Given the description of an element on the screen output the (x, y) to click on. 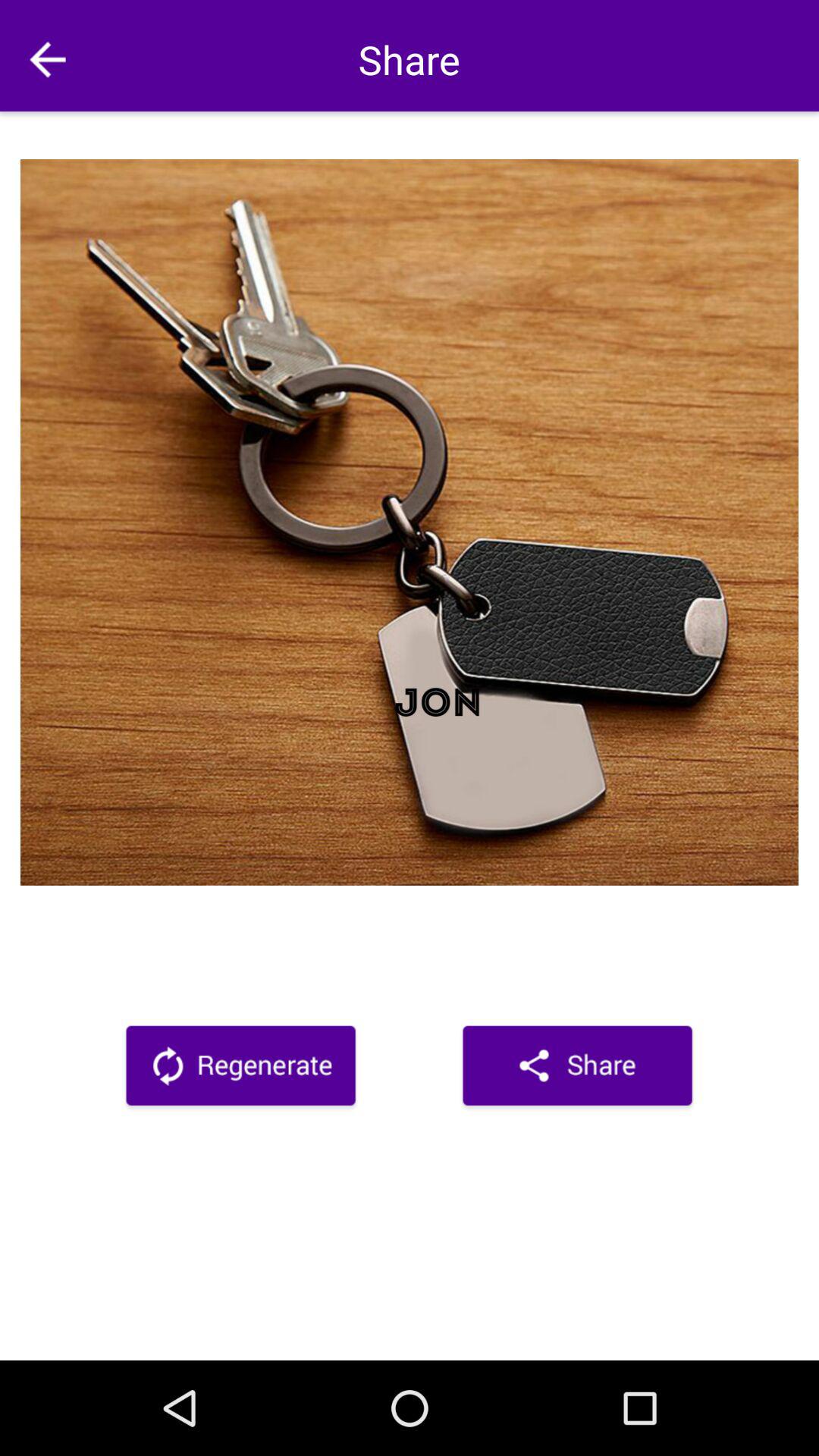
clique para compartilhar nas redes sociais (577, 1068)
